Given the description of an element on the screen output the (x, y) to click on. 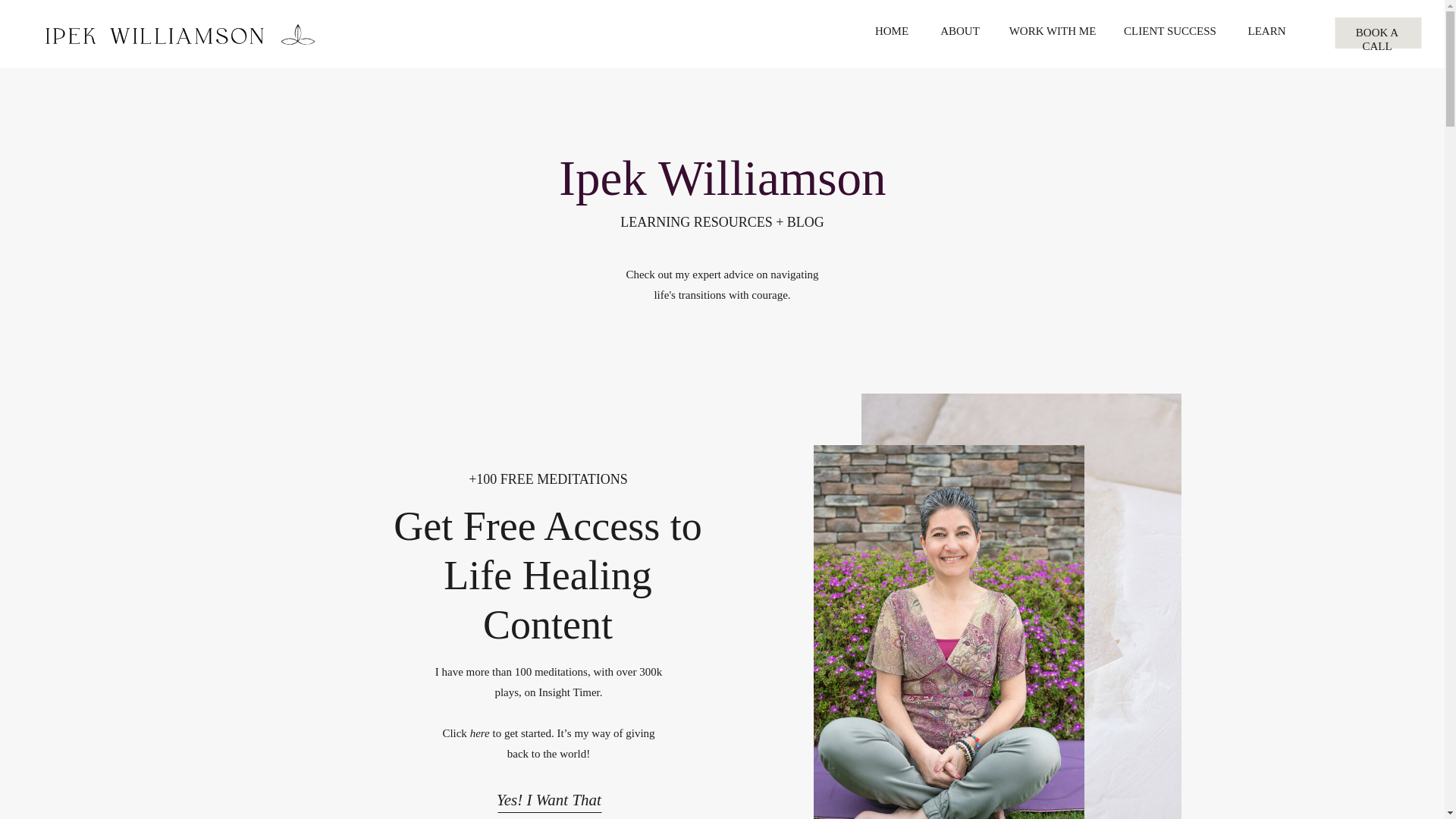
BOOK A CALL (1376, 34)
HOME (891, 32)
Ipek Williamson (721, 175)
ABOUT (959, 32)
CLIENT SUCCESS (1169, 32)
LEARN (1266, 32)
WORK WITH ME (1052, 32)
Yes! I Want That (548, 795)
